Given the description of an element on the screen output the (x, y) to click on. 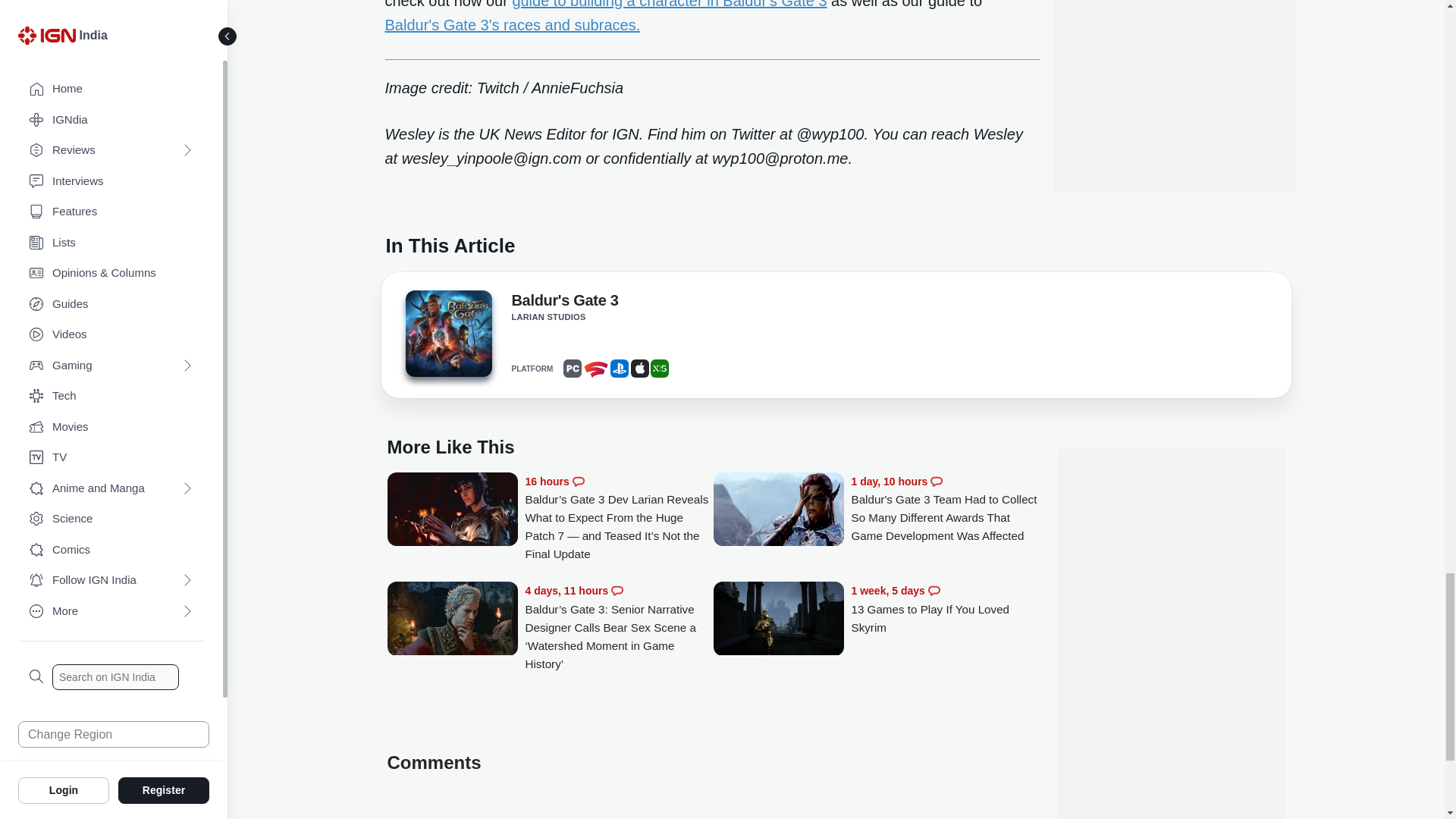
13 Games to Play If You Loved Skyrim (944, 609)
Baldur's Gate 3 (448, 333)
Baldur's Gate 3 (564, 302)
13 Games to Play If You Loved Skyrim (778, 619)
Baldur's Gate 3 (448, 337)
